Given the description of an element on the screen output the (x, y) to click on. 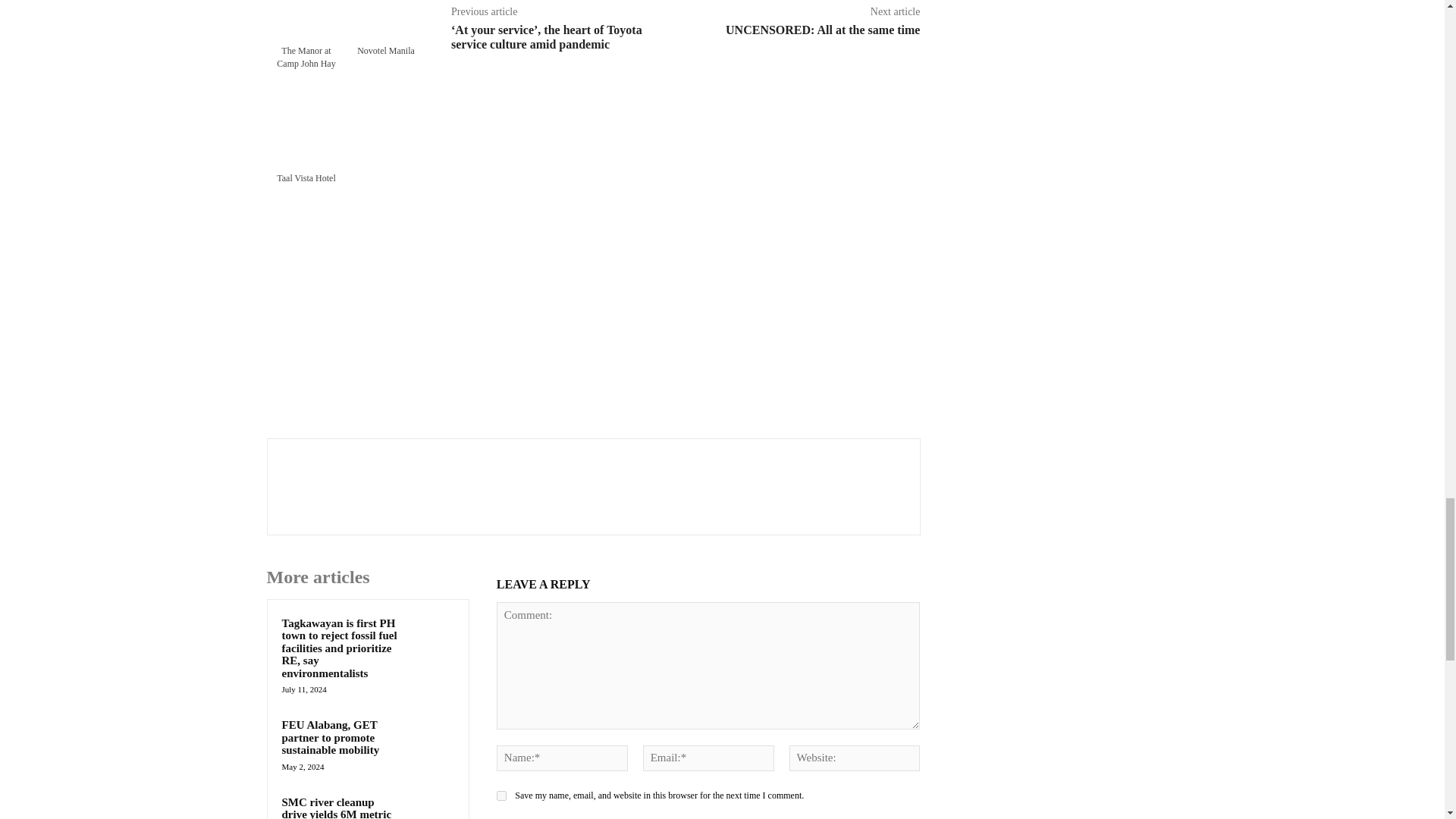
yes (501, 795)
